Given the description of an element on the screen output the (x, y) to click on. 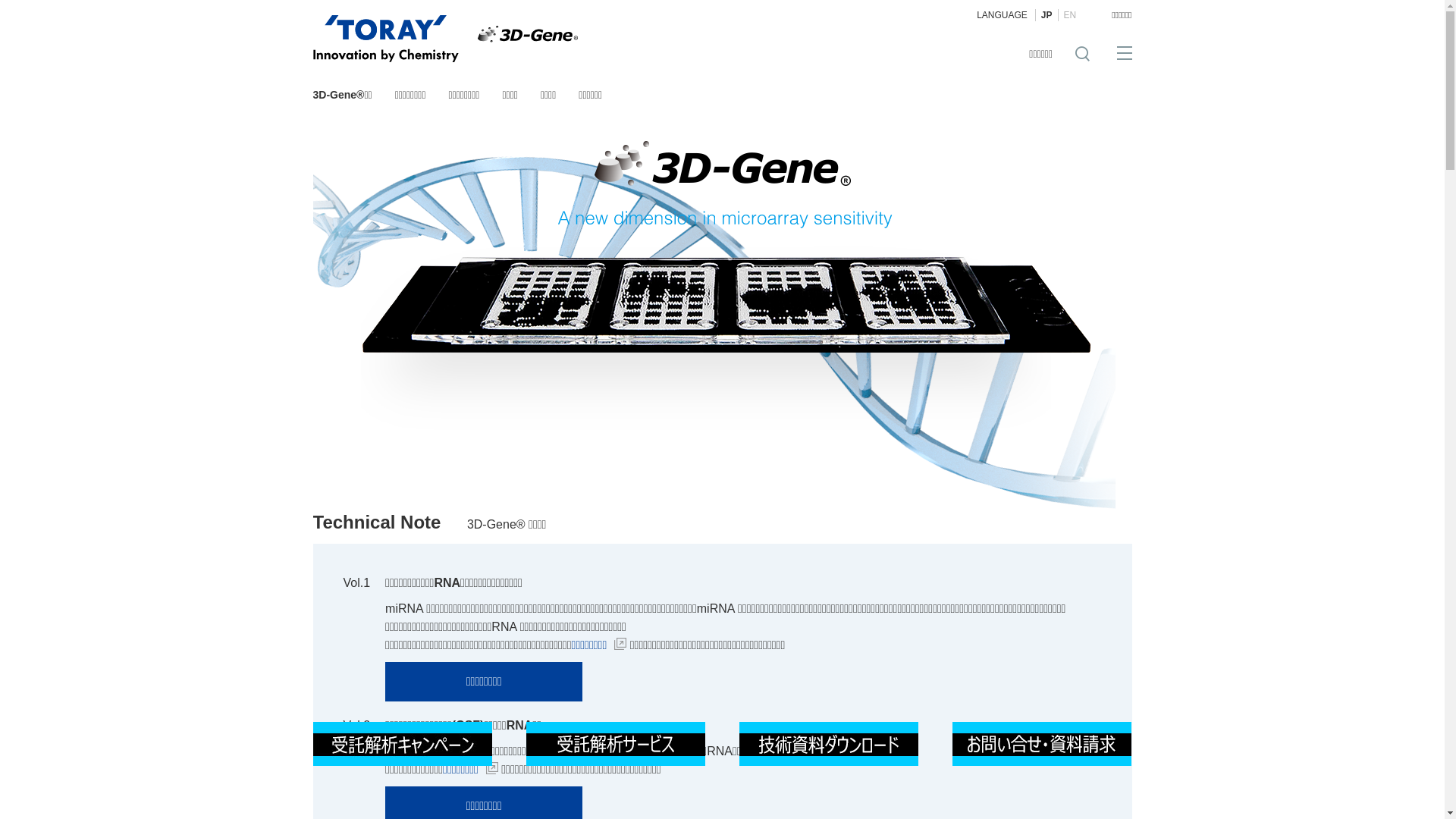
JP Element type: text (1046, 15)
EN Element type: text (1069, 15)
